Given the description of an element on the screen output the (x, y) to click on. 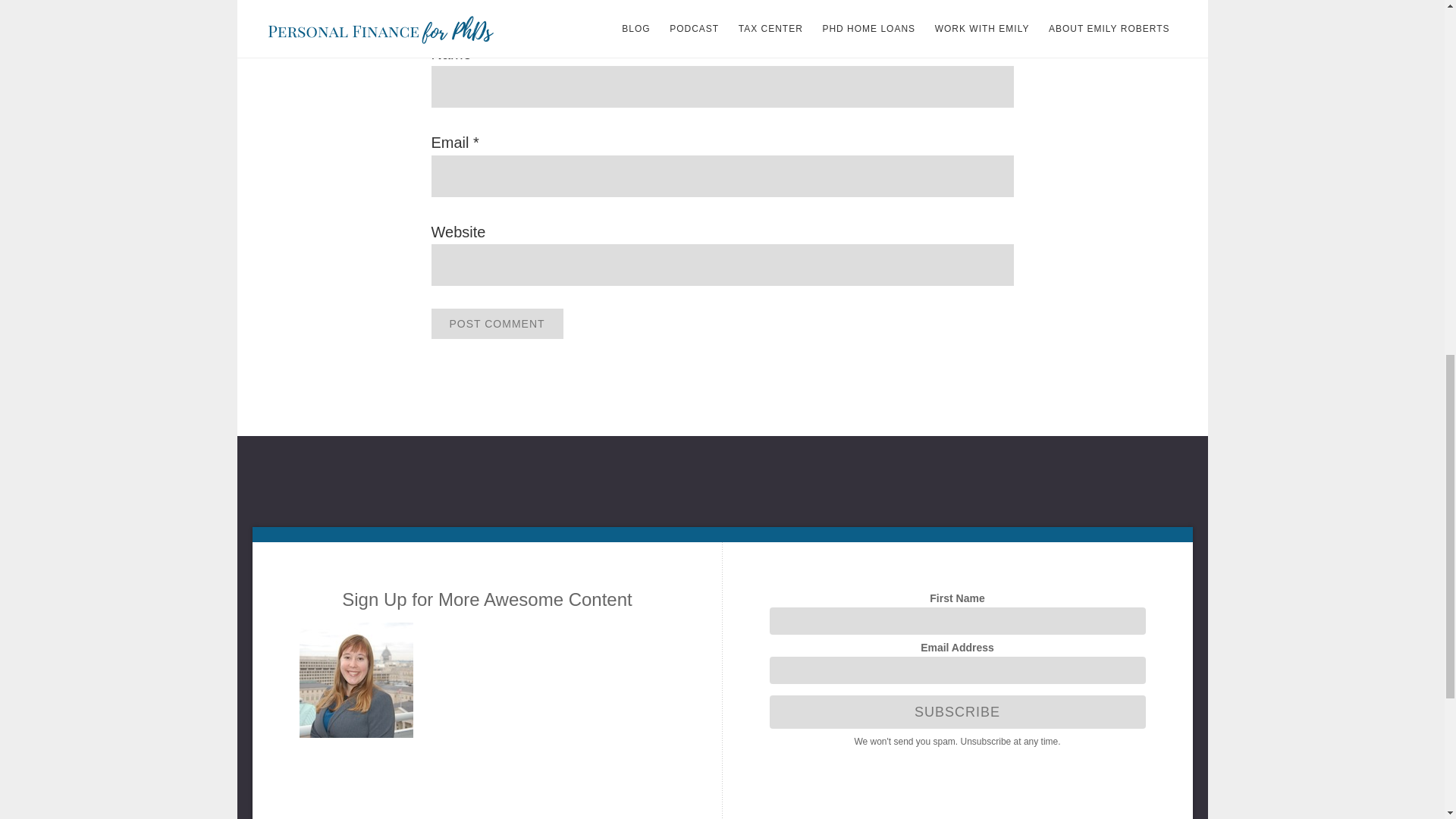
SUBSCRIBE (956, 711)
Powered by ConvertKit (956, 760)
Post Comment (496, 323)
Post Comment (496, 323)
